Given the description of an element on the screen output the (x, y) to click on. 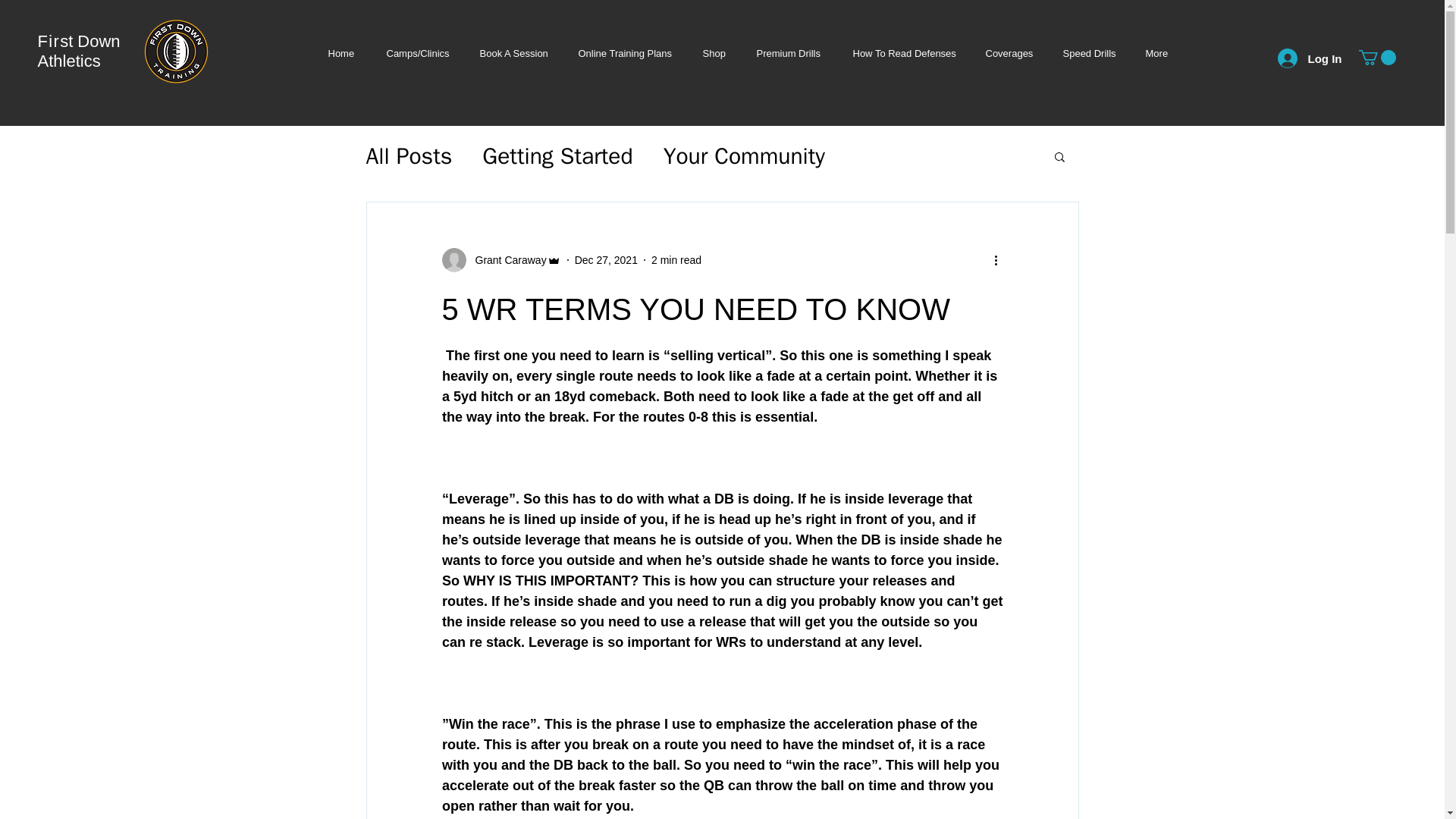
Grant Caraway (505, 259)
Coverages (1009, 53)
Book A Session (513, 53)
Fir (49, 40)
Shop (714, 53)
Premium Drills (789, 53)
How To Read Defenses (903, 53)
Dec 27, 2021 (606, 259)
Home (342, 53)
Speed Drills (1089, 53)
2 min read (675, 259)
Online Training Plans (624, 53)
